Given the description of an element on the screen output the (x, y) to click on. 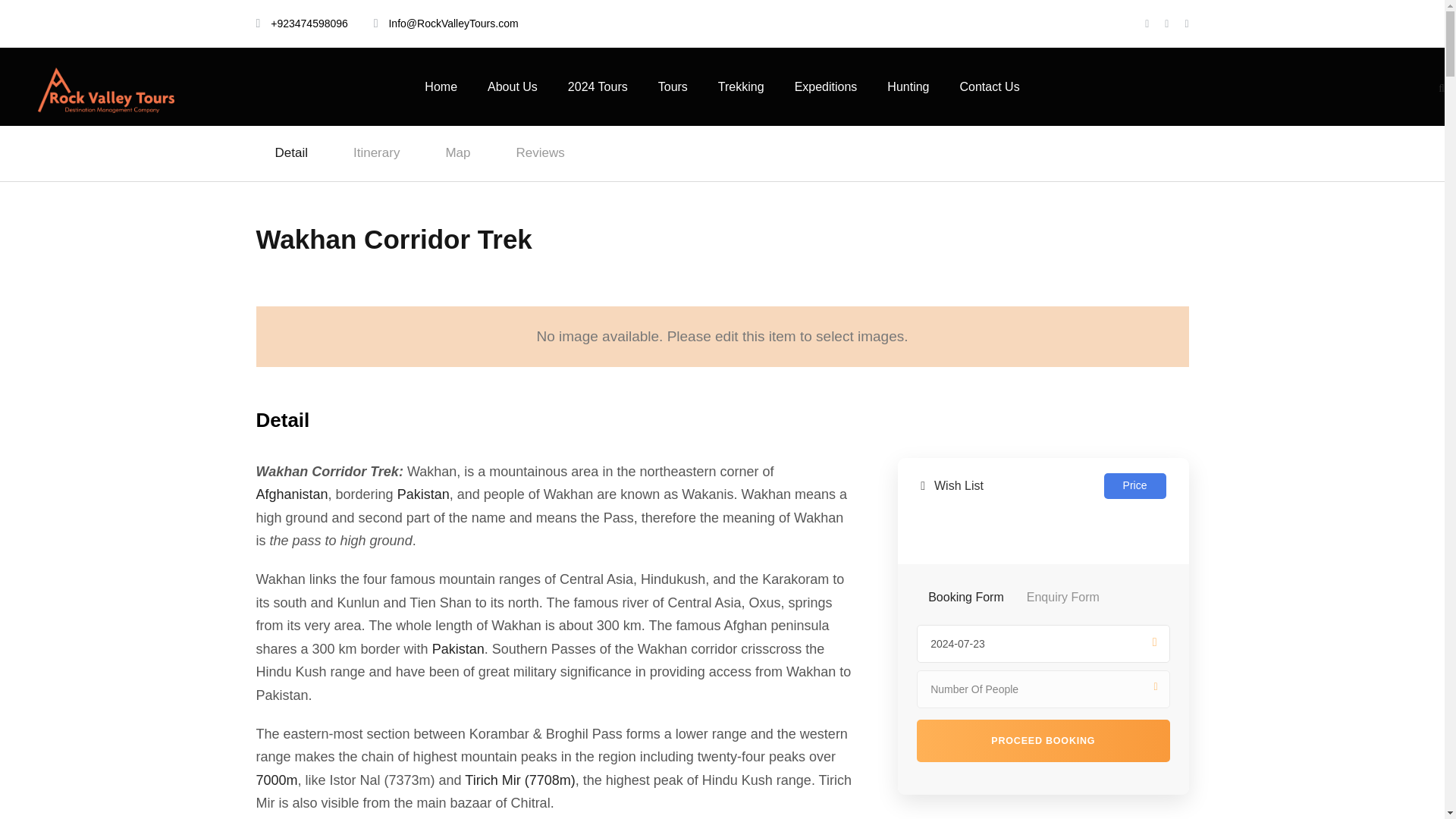
2024-07-23 (1043, 643)
Rock Valley Tours Pakistan (105, 90)
Expeditions (825, 101)
2024 Tours (597, 101)
Proceed Booking (1043, 740)
Trekking (740, 101)
About Us (512, 101)
